Given the description of an element on the screen output the (x, y) to click on. 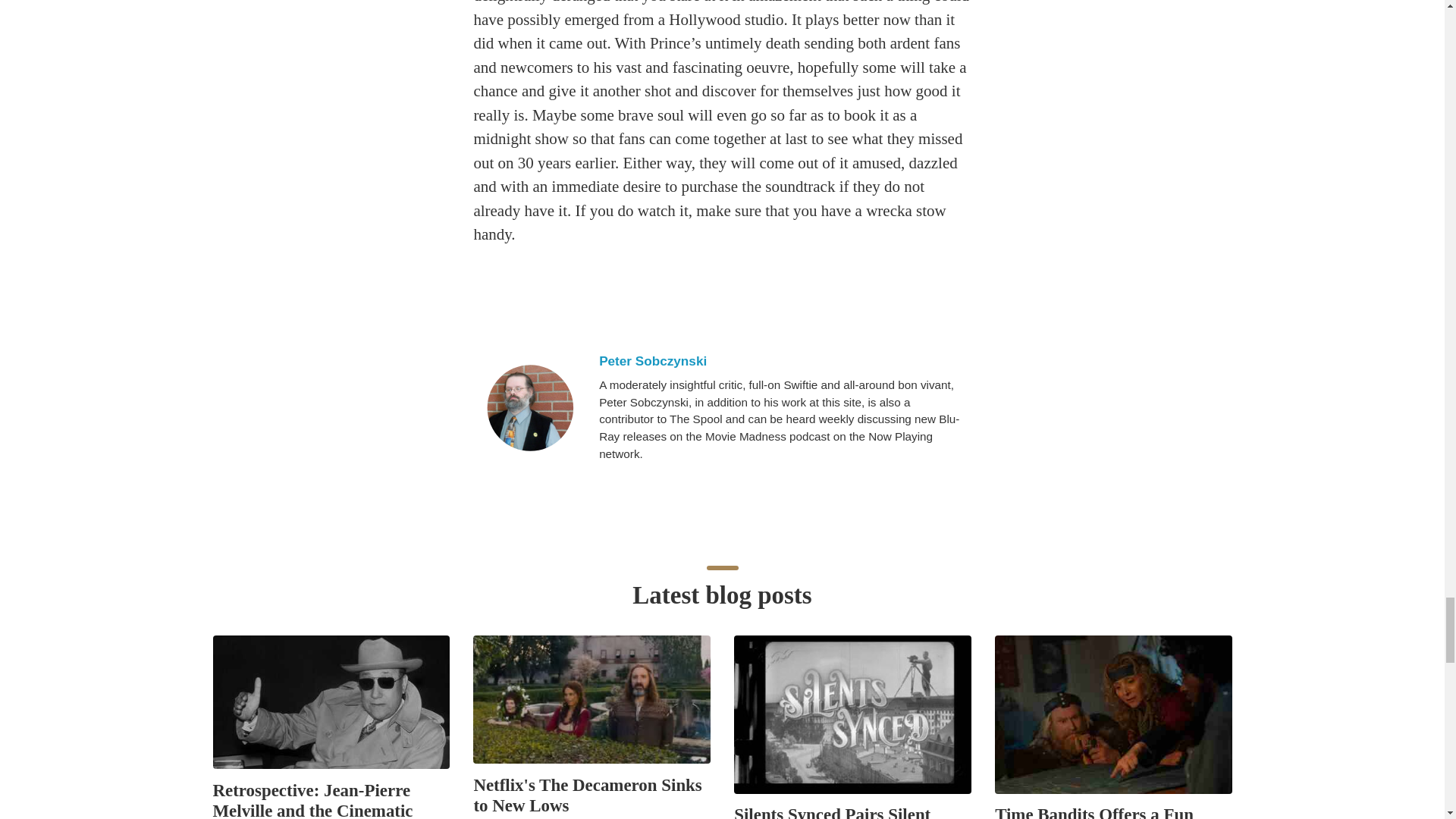
Peter Sobczynski (782, 360)
Peter Sobczynski (529, 407)
